Given the description of an element on the screen output the (x, y) to click on. 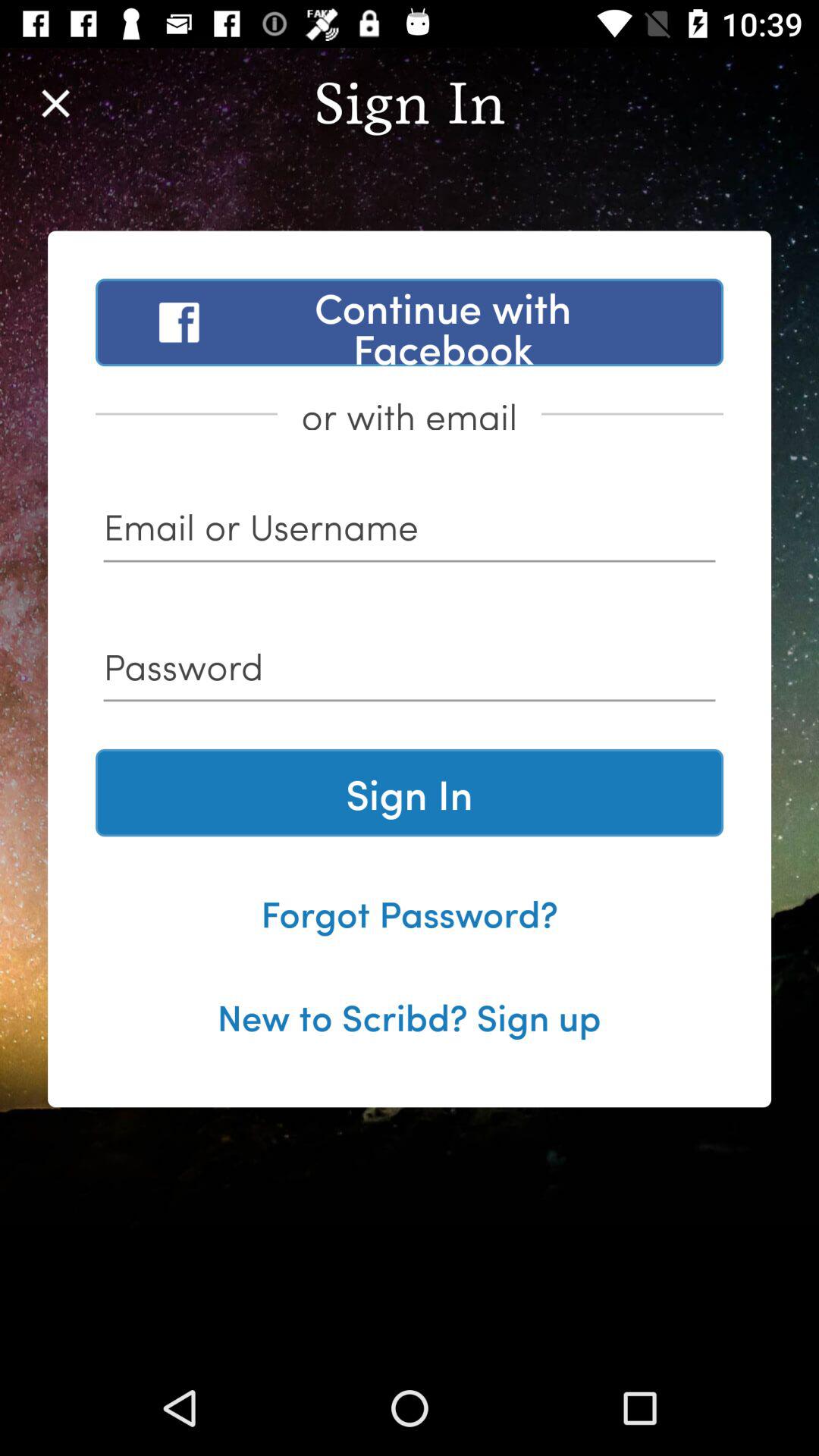
turn off the item above or with email item (409, 322)
